Given the description of an element on the screen output the (x, y) to click on. 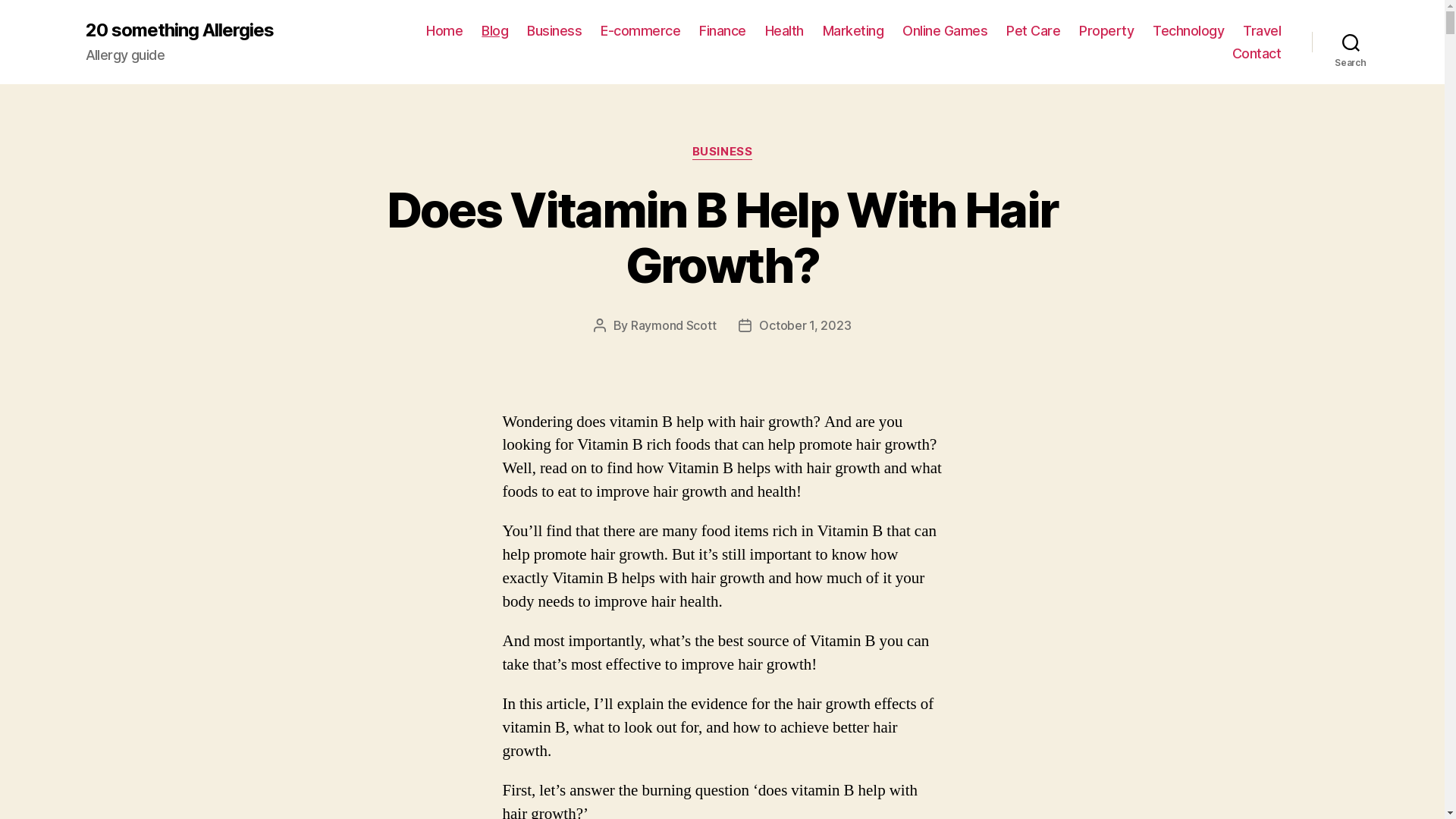
Pet Care Element type: text (1033, 30)
Online Games Element type: text (944, 30)
Search Element type: text (1350, 42)
Business Element type: text (554, 30)
Raymond Scott Element type: text (673, 324)
Does Vitamin B Help With Hair Growth? Element type: text (722, 237)
Marketing Element type: text (853, 30)
October 1, 2023 Element type: text (804, 324)
20 something Allergies Element type: text (178, 30)
Home Element type: text (444, 30)
Property Element type: text (1106, 30)
Travel Element type: text (1261, 30)
BUSINESS Element type: text (722, 152)
E-commerce Element type: text (640, 30)
Contact Element type: text (1256, 53)
Health Element type: text (784, 30)
Finance Element type: text (722, 30)
Technology Element type: text (1187, 30)
Blog Element type: text (494, 30)
